Given the description of an element on the screen output the (x, y) to click on. 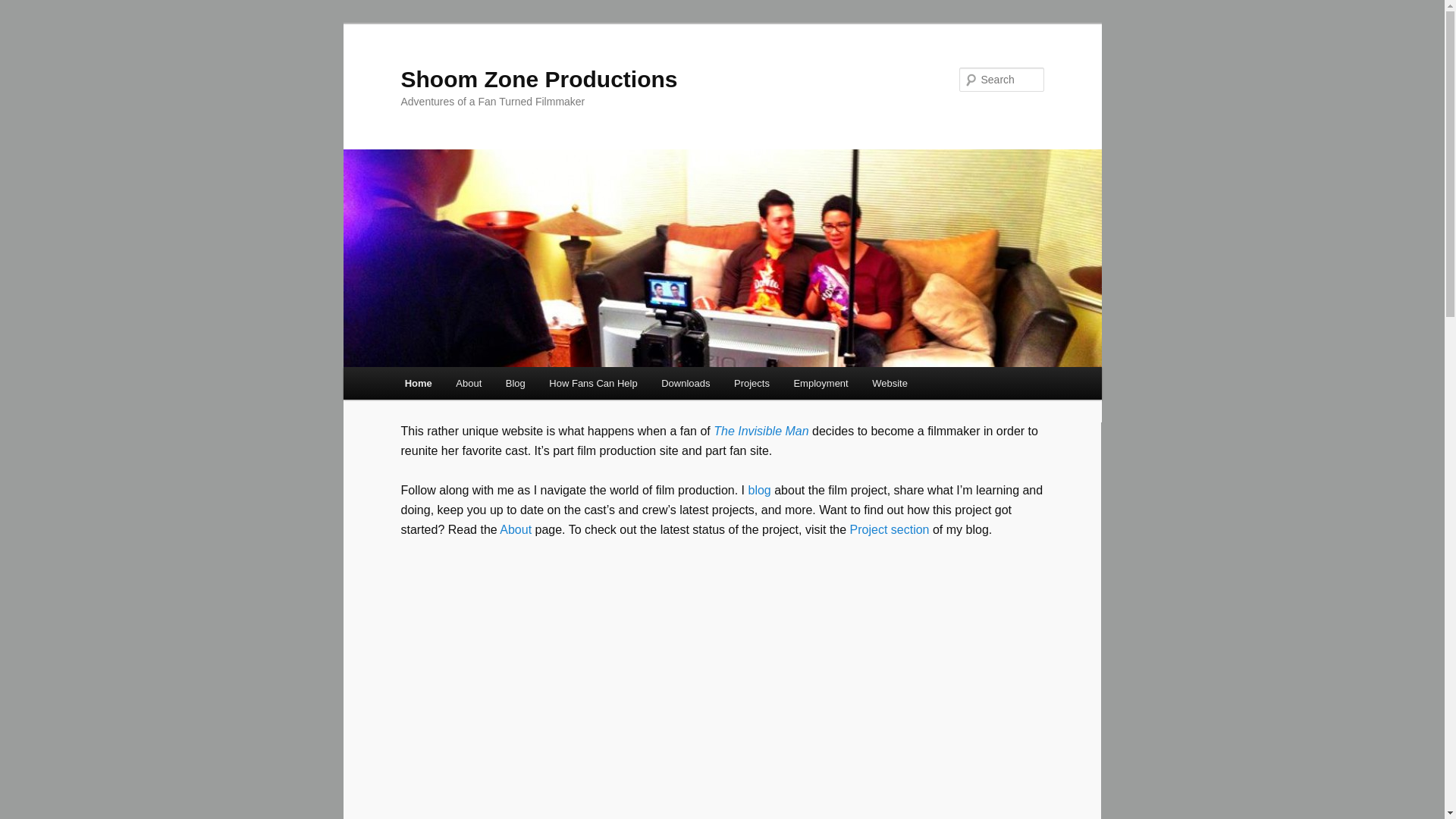
Project section (890, 529)
Website (889, 382)
Shoom Zone Productions (538, 78)
Employment (820, 382)
Home (418, 382)
How Fans Can Help (593, 382)
About (515, 529)
About (468, 382)
The Invisible Man (760, 431)
Projects (751, 382)
Blog (515, 382)
Downloads (685, 382)
blog (759, 490)
Search (24, 8)
